Given the description of an element on the screen output the (x, y) to click on. 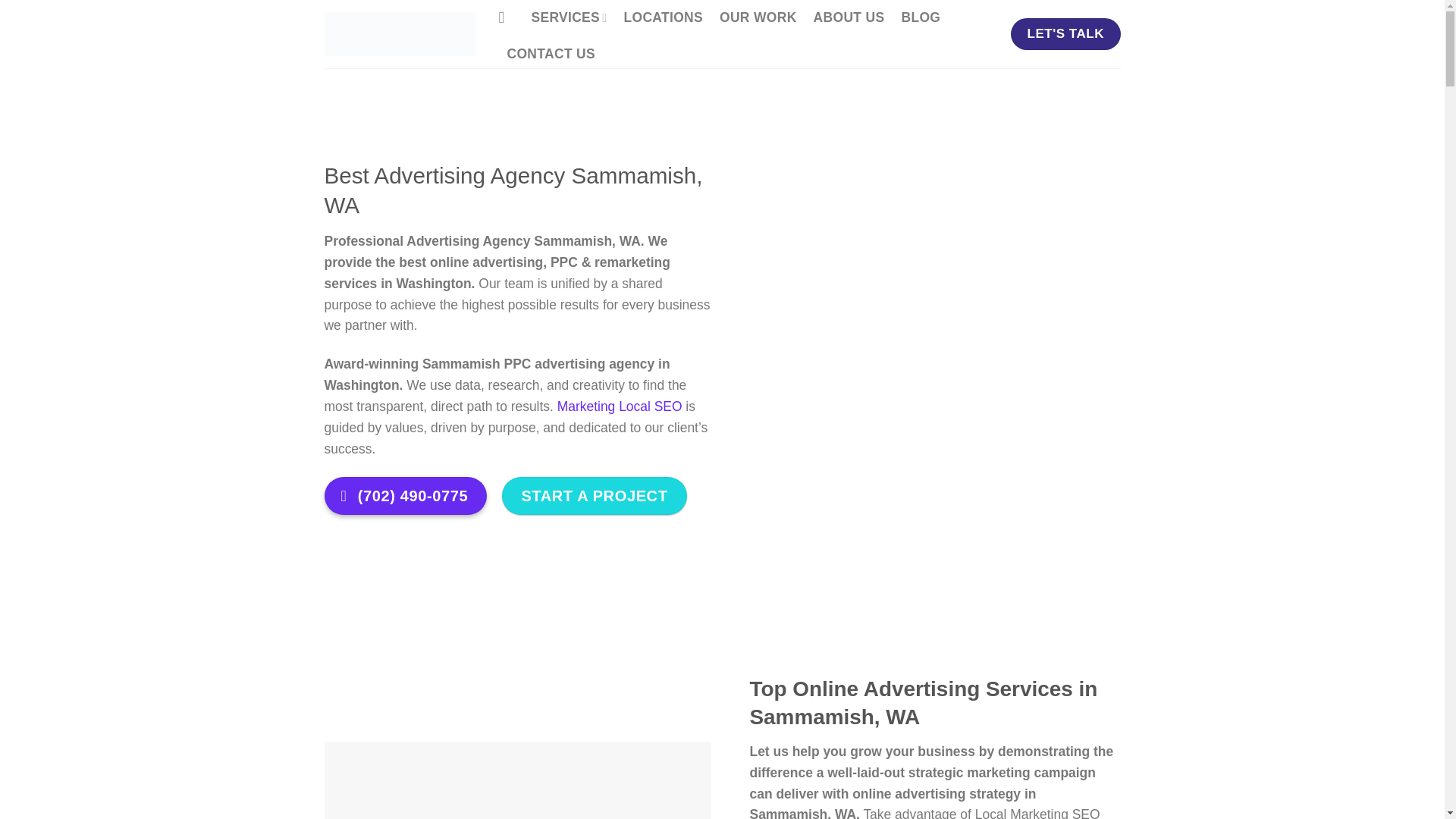
SERVICES (569, 18)
LET'S TALK (1064, 34)
CONTACT US (550, 54)
BLOG (920, 18)
ABOUT US (849, 18)
Marketing Local SEO (619, 406)
OUR WORK (757, 18)
Marketing Local SEO - Local SEO Services (400, 34)
START A PROJECT (593, 495)
LOCATIONS (663, 18)
